Given the description of an element on the screen output the (x, y) to click on. 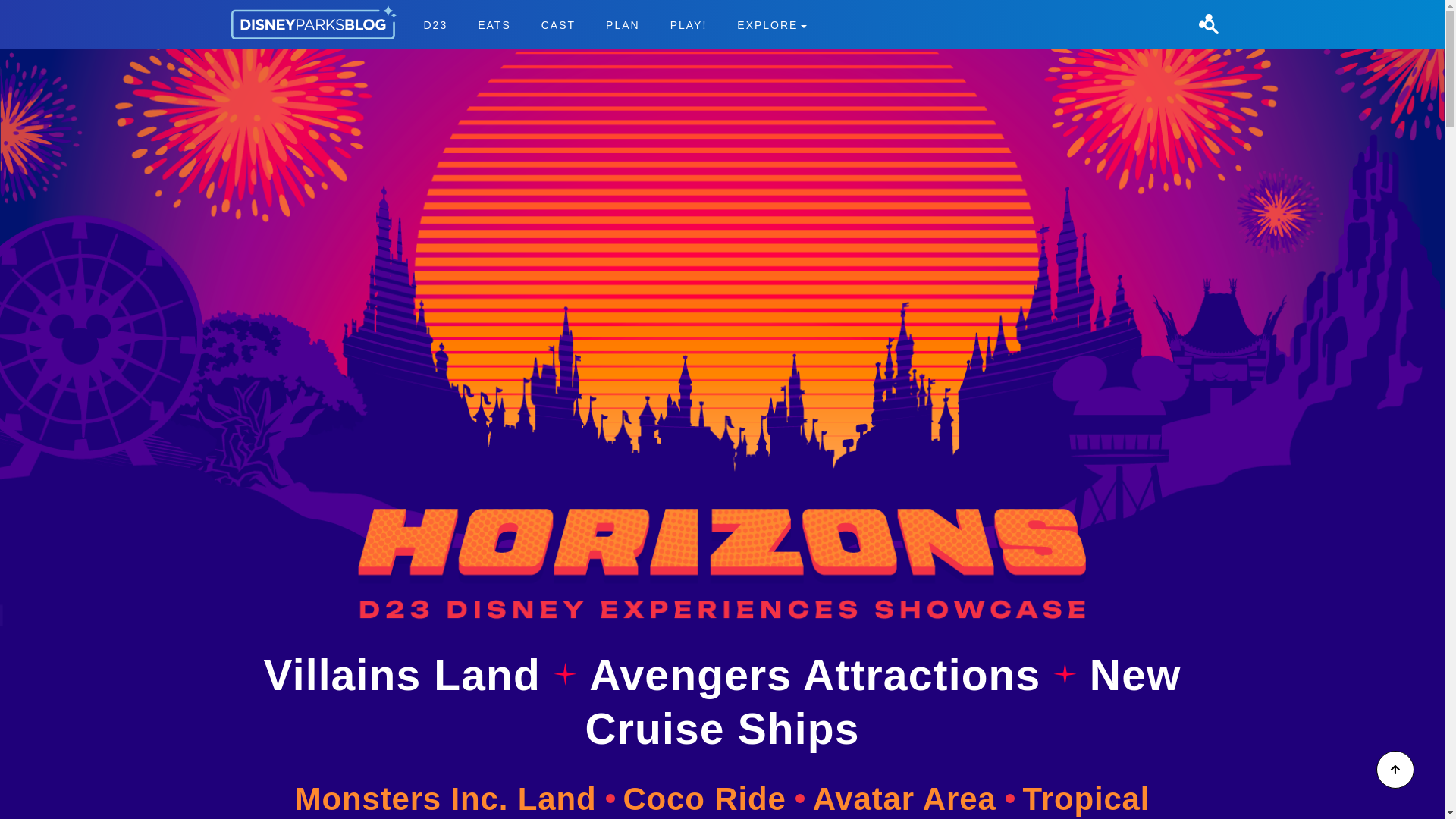
New Cruise Ships (882, 701)
D23 (435, 23)
Tropical Americas (834, 800)
CAST (558, 23)
Avengers Attractions (820, 674)
PLAY! (688, 23)
Villains Land (408, 674)
PLAN (622, 23)
Skip to content (614, 23)
